Given the description of an element on the screen output the (x, y) to click on. 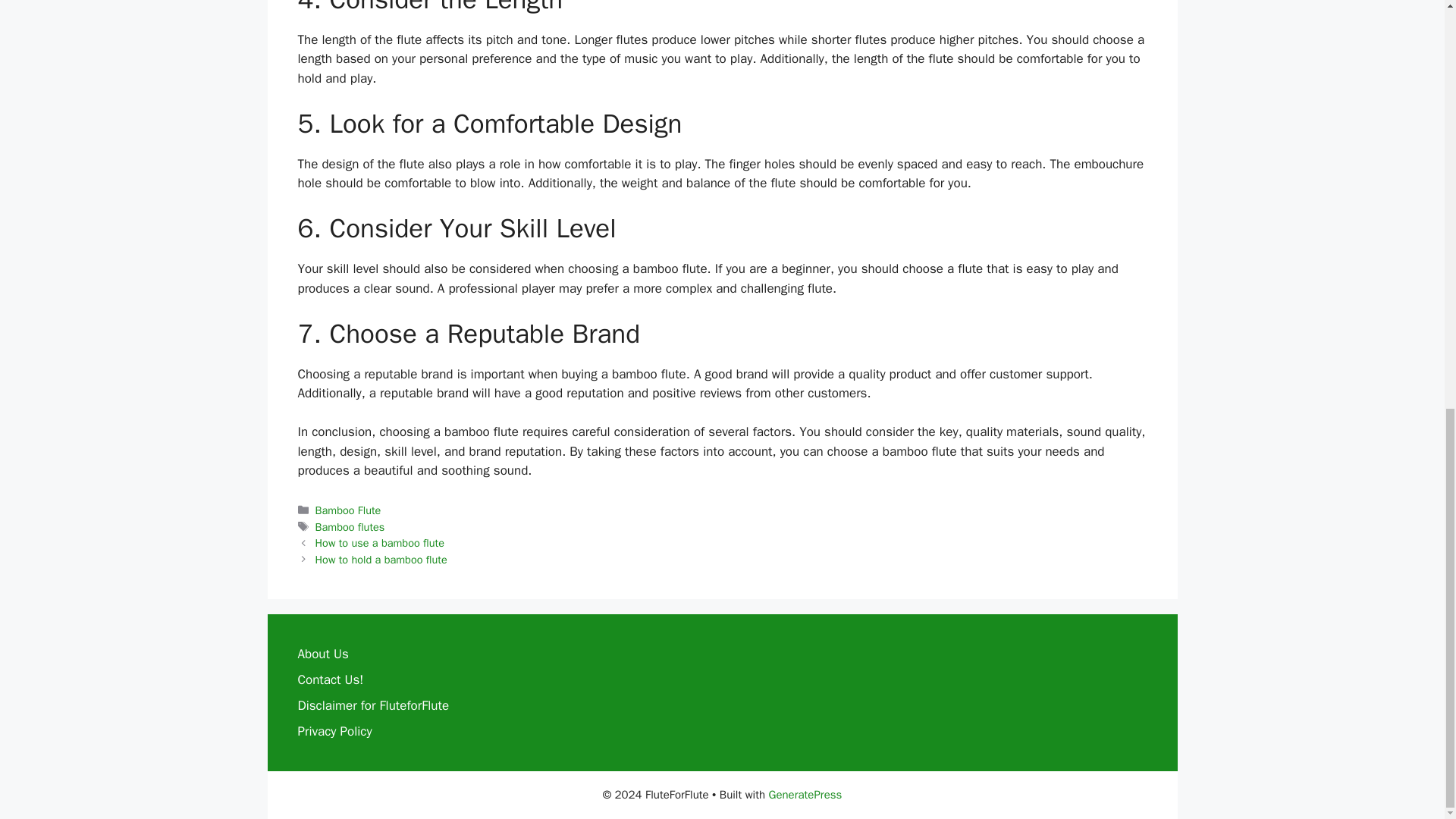
How to use a bamboo flute (379, 542)
Bamboo flutes (350, 526)
Contact Us! (329, 679)
Bamboo Flute (348, 509)
Disclaimer for FluteforFlute (372, 705)
About Us (322, 653)
How to hold a bamboo flute (380, 559)
